Given the description of an element on the screen output the (x, y) to click on. 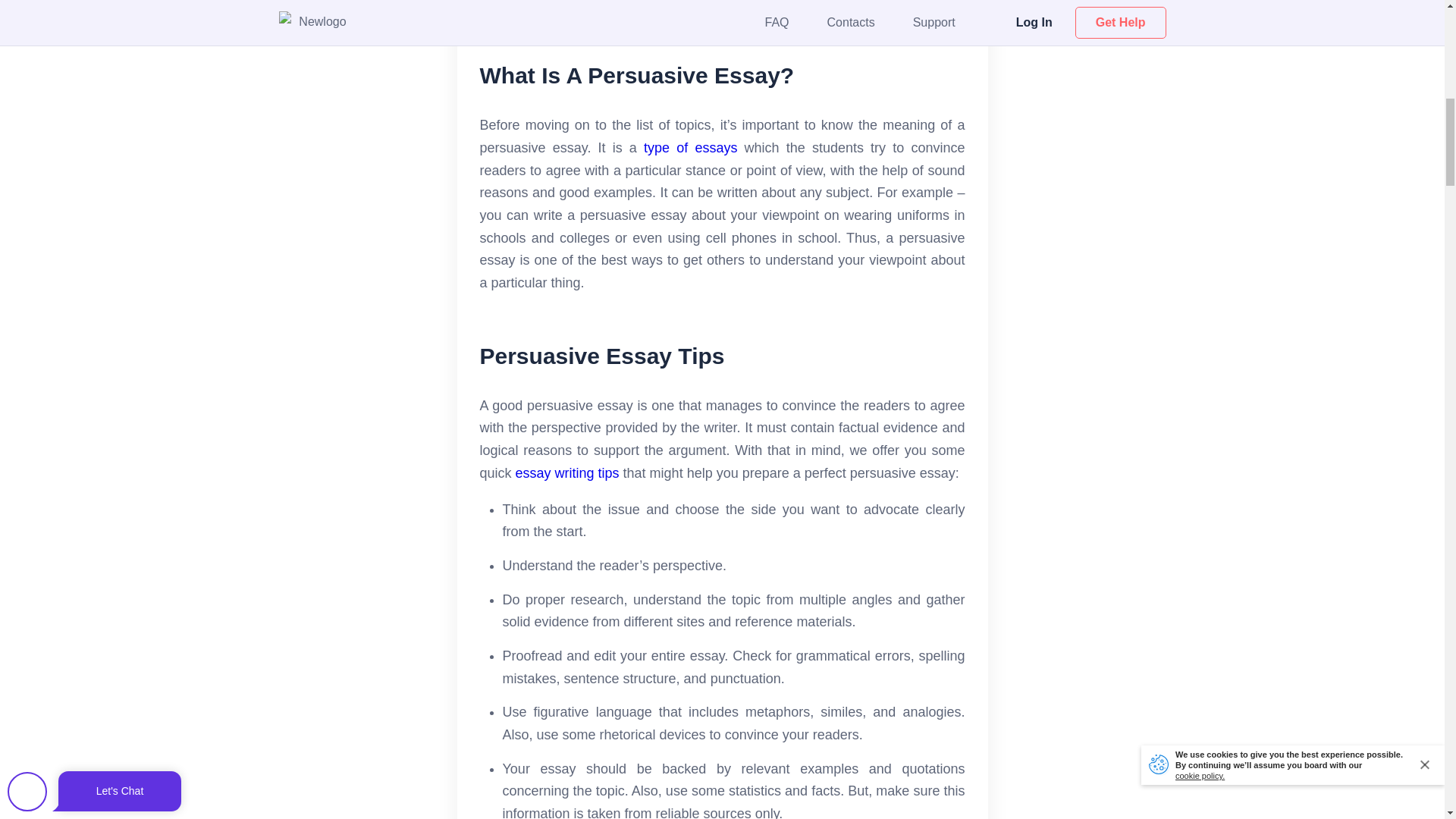
essay writing tips (567, 473)
type of essays (689, 147)
